Given the description of an element on the screen output the (x, y) to click on. 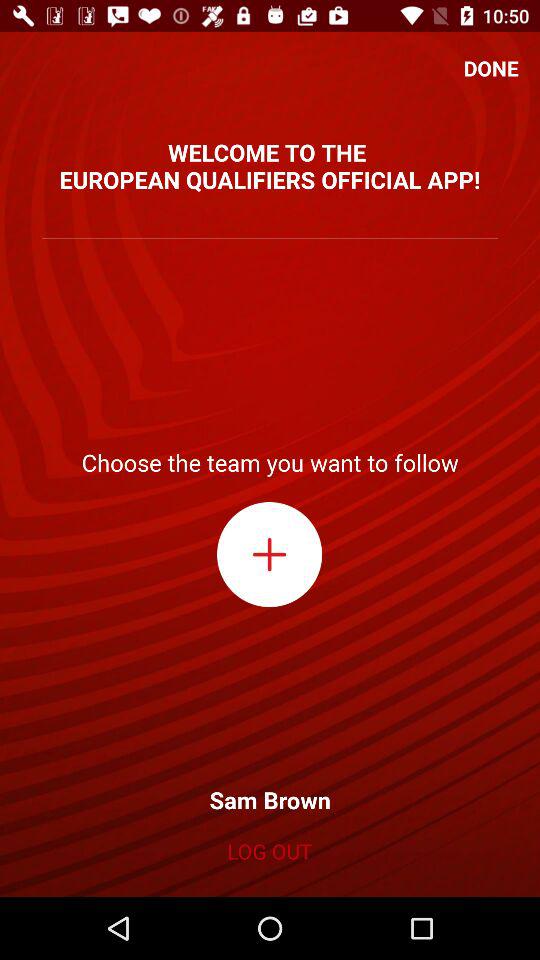
jump until done icon (491, 68)
